Given the description of an element on the screen output the (x, y) to click on. 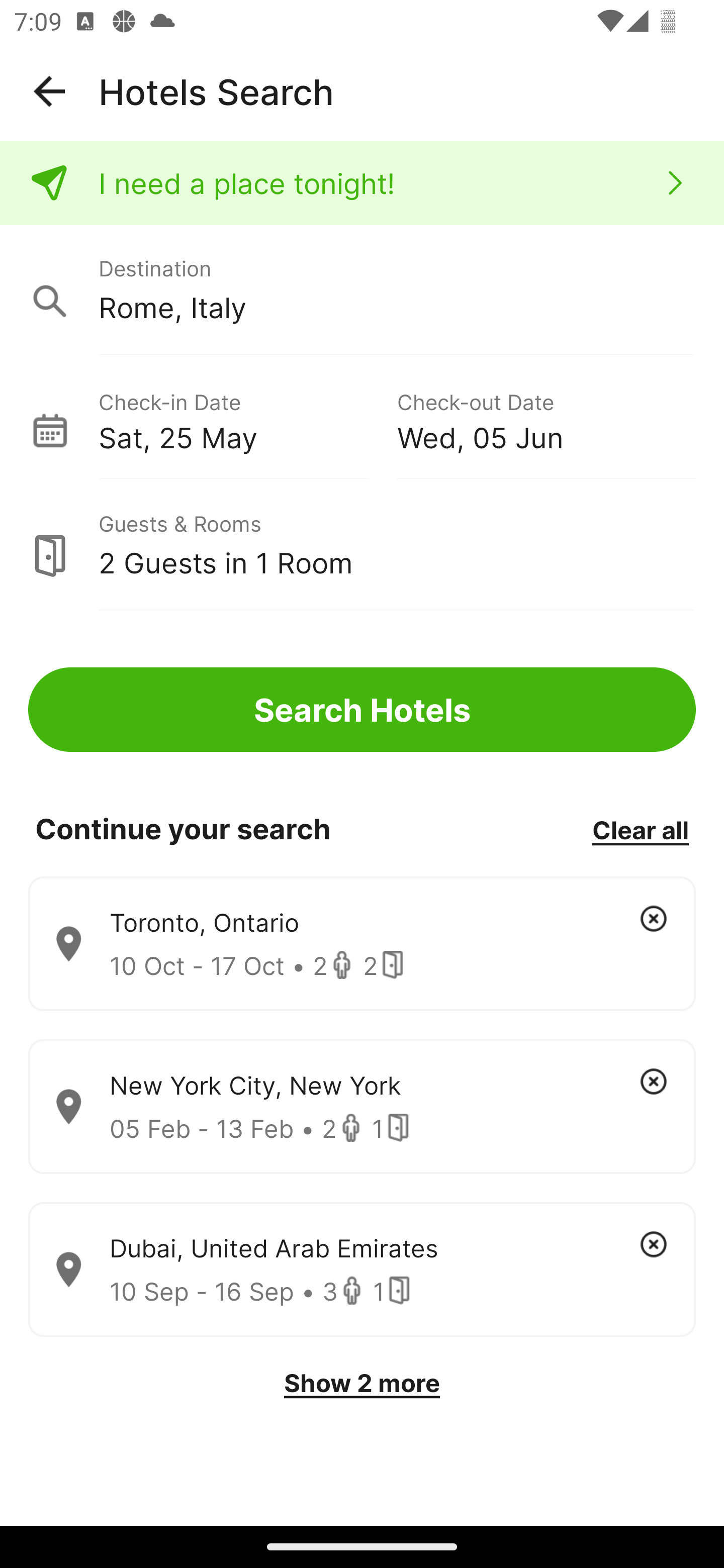
I need a place tonight! (362, 183)
Destination Rome, Italy (362, 290)
Check-in Date Sat, 25 May (247, 418)
Check-out Date Wed, 05 Jun (546, 418)
Guests & Rooms 2 Guests in 1 Room (362, 545)
Search Hotels (361, 709)
Clear all (640, 829)
Toronto, Ontario 10 Oct - 17 Oct • 2  2  (361, 943)
New York City, New York 05 Feb - 13 Feb • 2  1  (361, 1106)
Show 2 more (362, 1382)
